Given the description of an element on the screen output the (x, y) to click on. 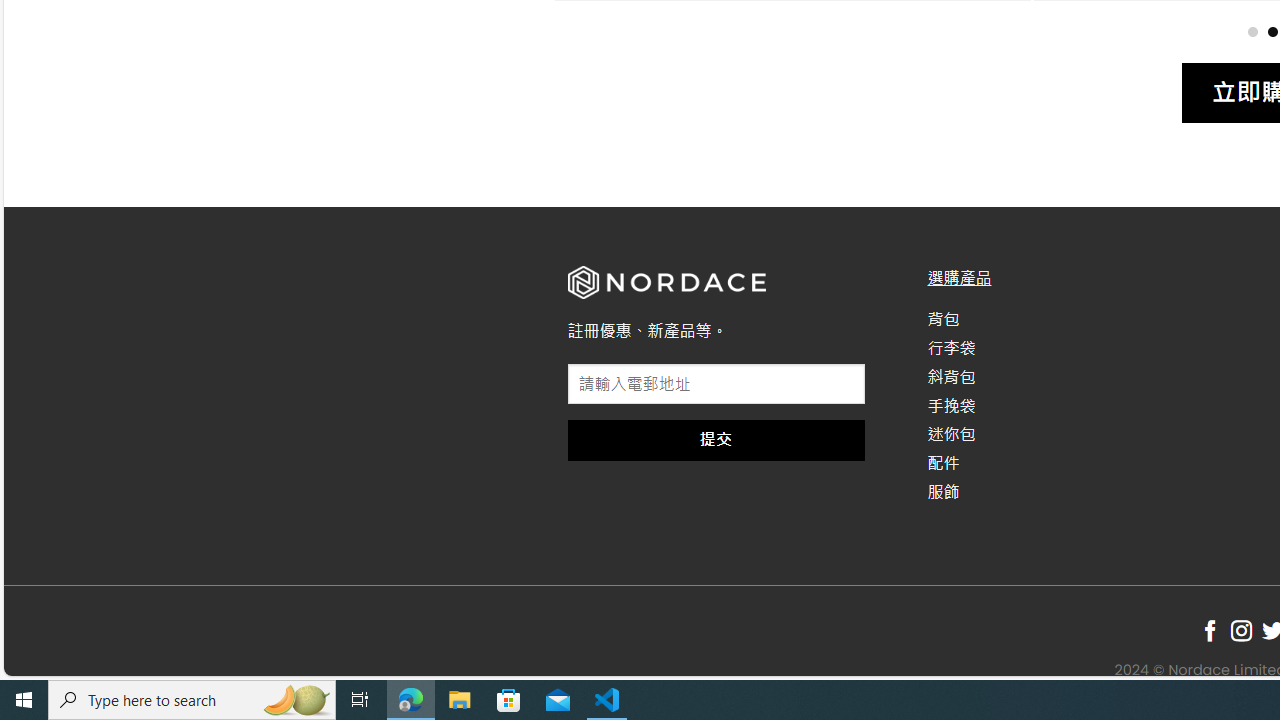
AutomationID: field_4_1 (716, 386)
AutomationID: input_4_1 (716, 384)
